Given the description of an element on the screen output the (x, y) to click on. 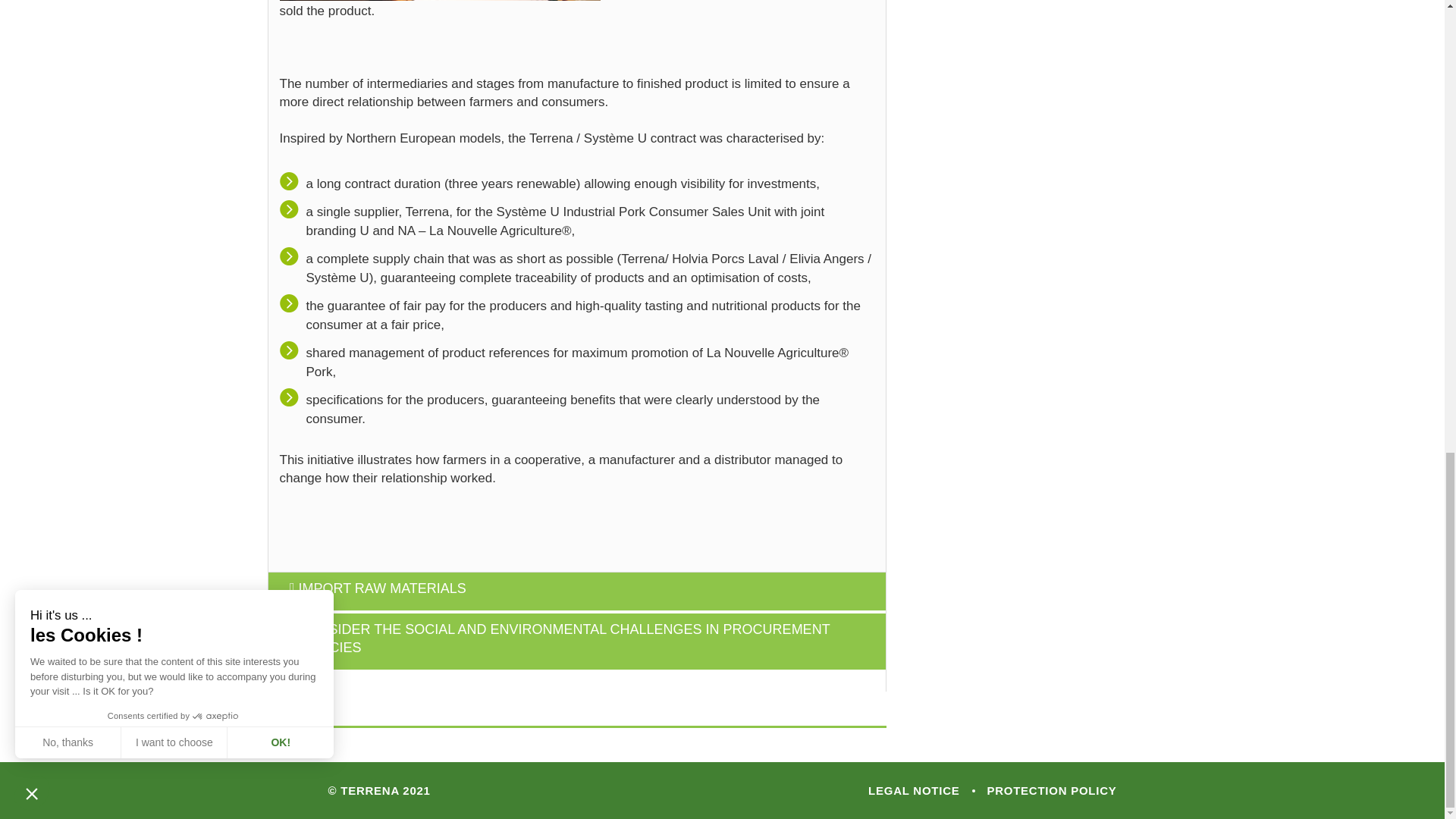
LEGAL NOTICE (913, 789)
PROTECTION POLICY (1045, 789)
